Given the description of an element on the screen output the (x, y) to click on. 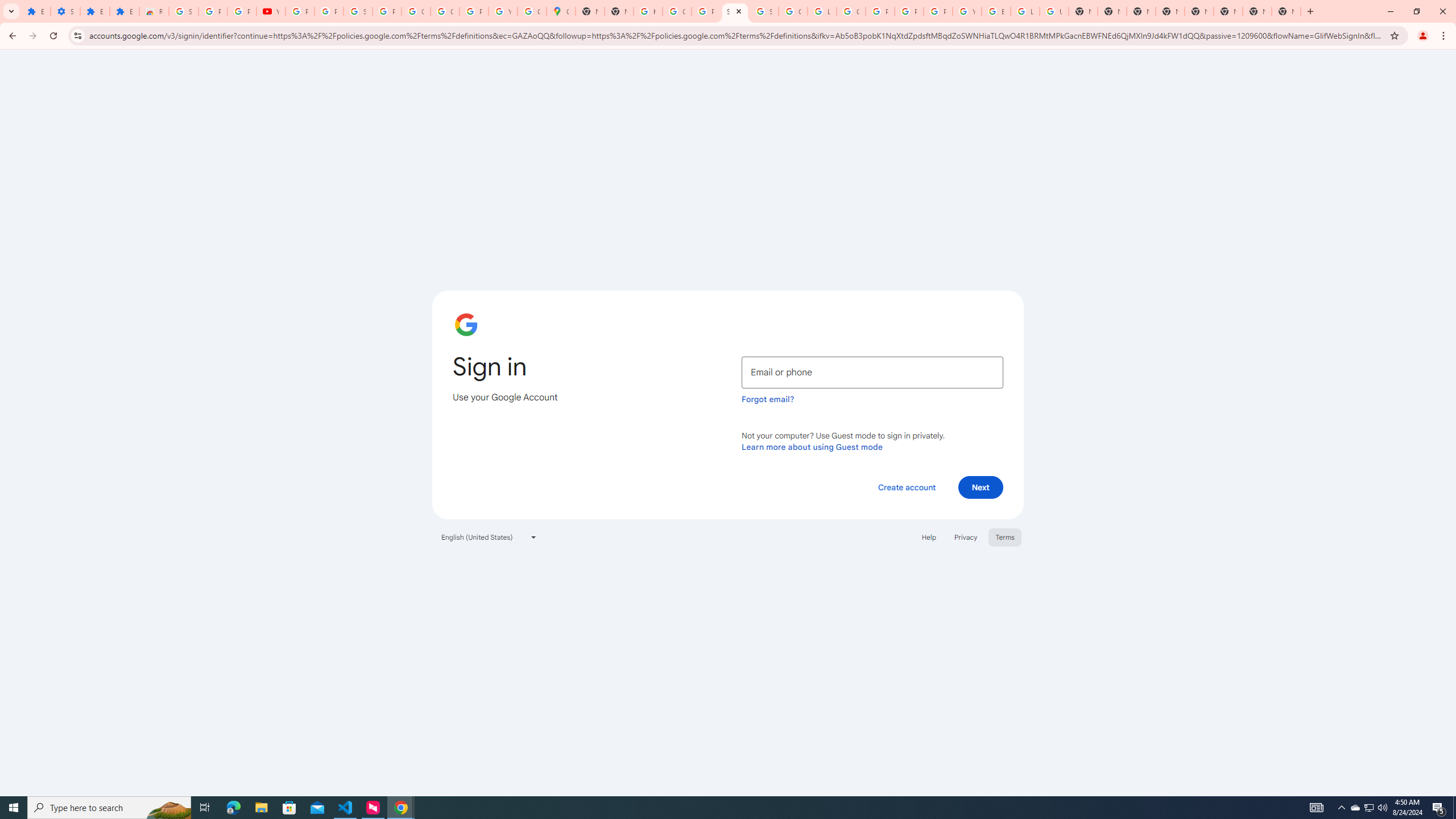
Sign in - Google Accounts (183, 11)
Sign in - Google Accounts (763, 11)
Create account (905, 486)
Sign in - Google Accounts (734, 11)
English (United States) (489, 536)
